Given the description of an element on the screen output the (x, y) to click on. 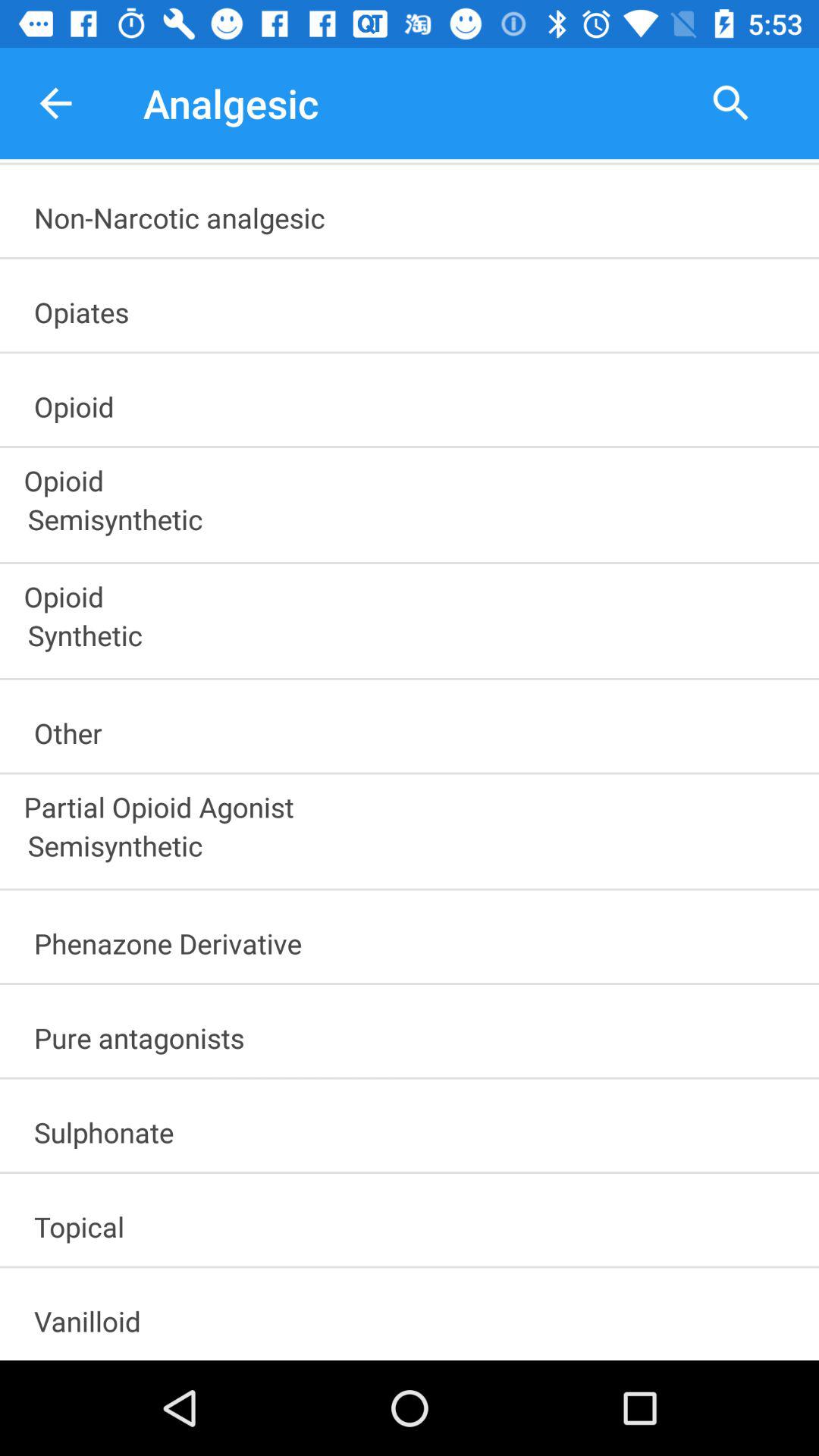
turn on pure antagonists item (416, 1032)
